Given the description of an element on the screen output the (x, y) to click on. 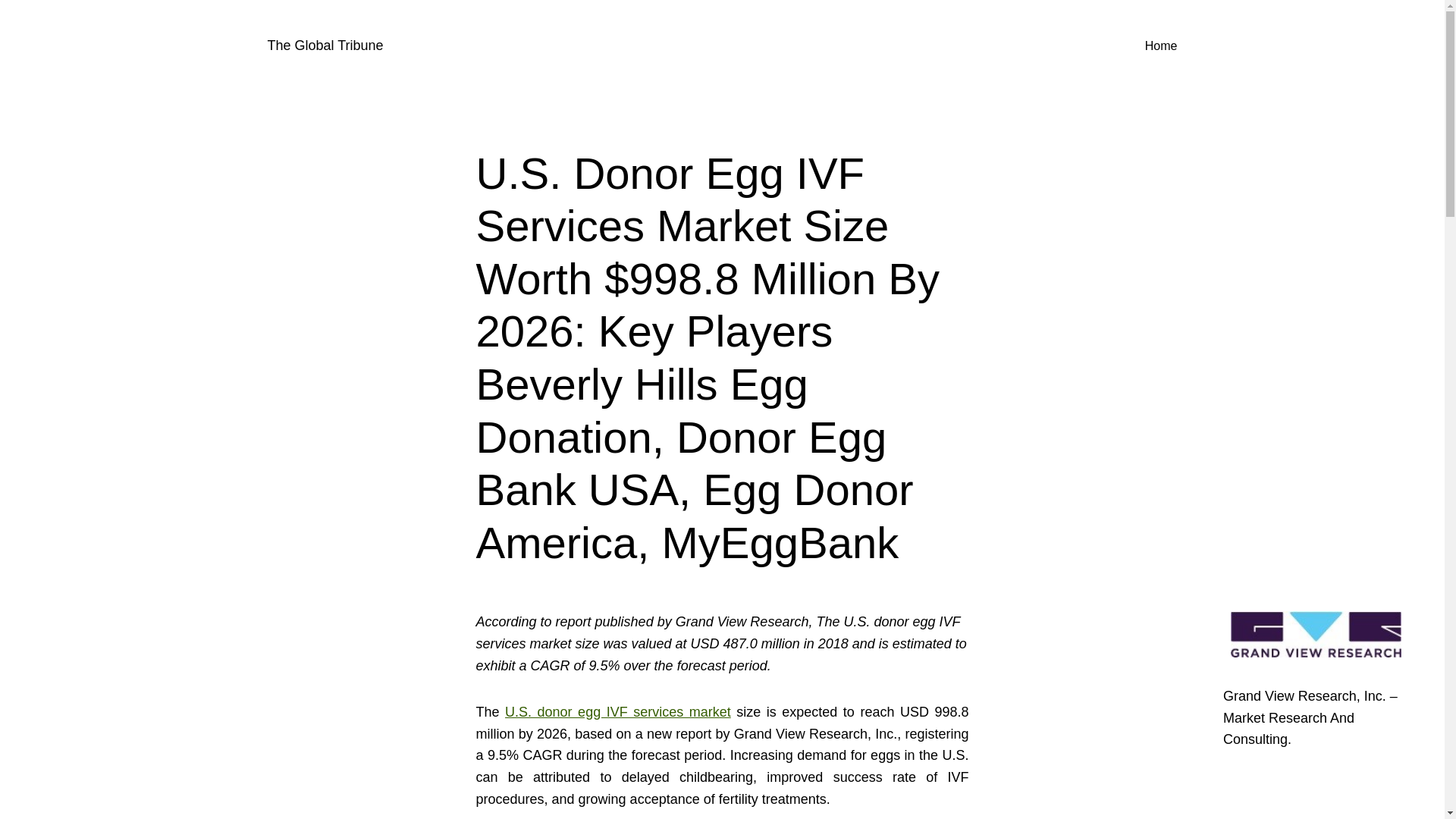
The Global Tribune (324, 45)
U.S. donor egg IVF services market (617, 711)
Home (1160, 46)
